Given the description of an element on the screen output the (x, y) to click on. 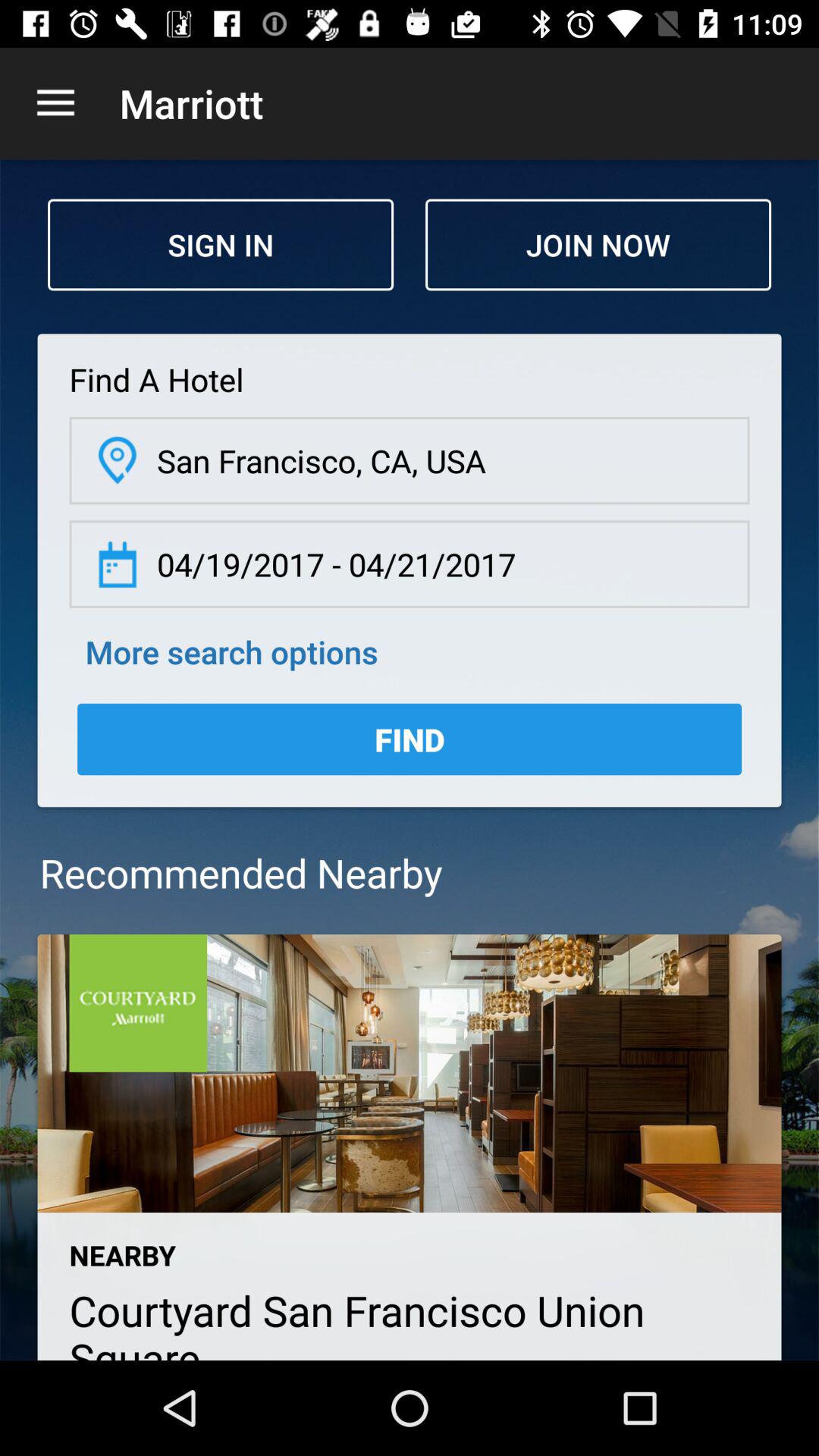
jump to the sign in item (220, 244)
